Given the description of an element on the screen output the (x, y) to click on. 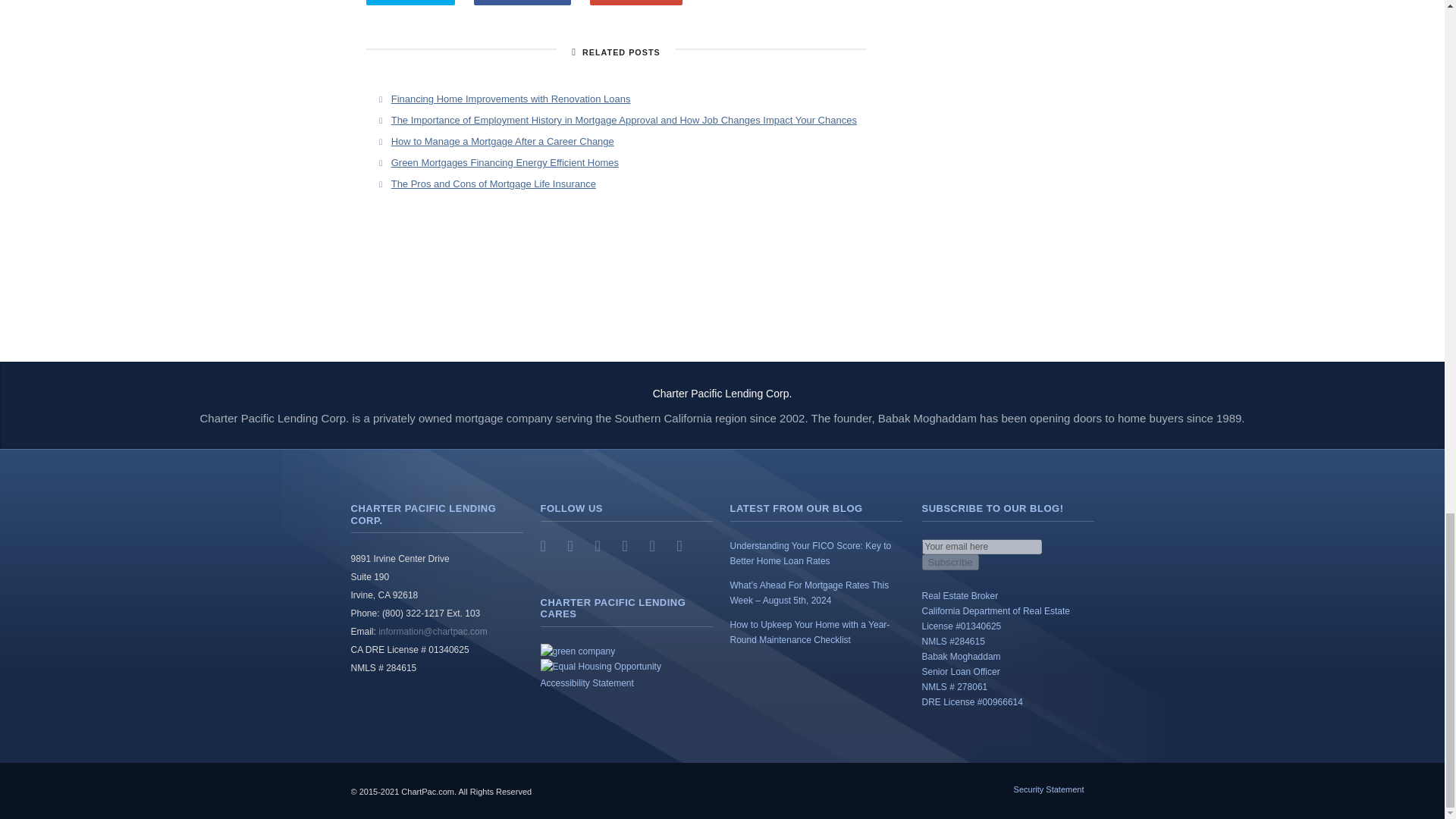
Twitter (576, 545)
Your email here (981, 546)
Your email here (981, 546)
Green Mortgages Financing Energy Efficient Homes (504, 162)
Financing Home Improvements with Renovation Loans (510, 98)
How to Manage a Mortgage After a Career Change (502, 141)
The Pros and Cons of Mortgage Life Insurance (493, 183)
RSS Feed (548, 545)
